Given the description of an element on the screen output the (x, y) to click on. 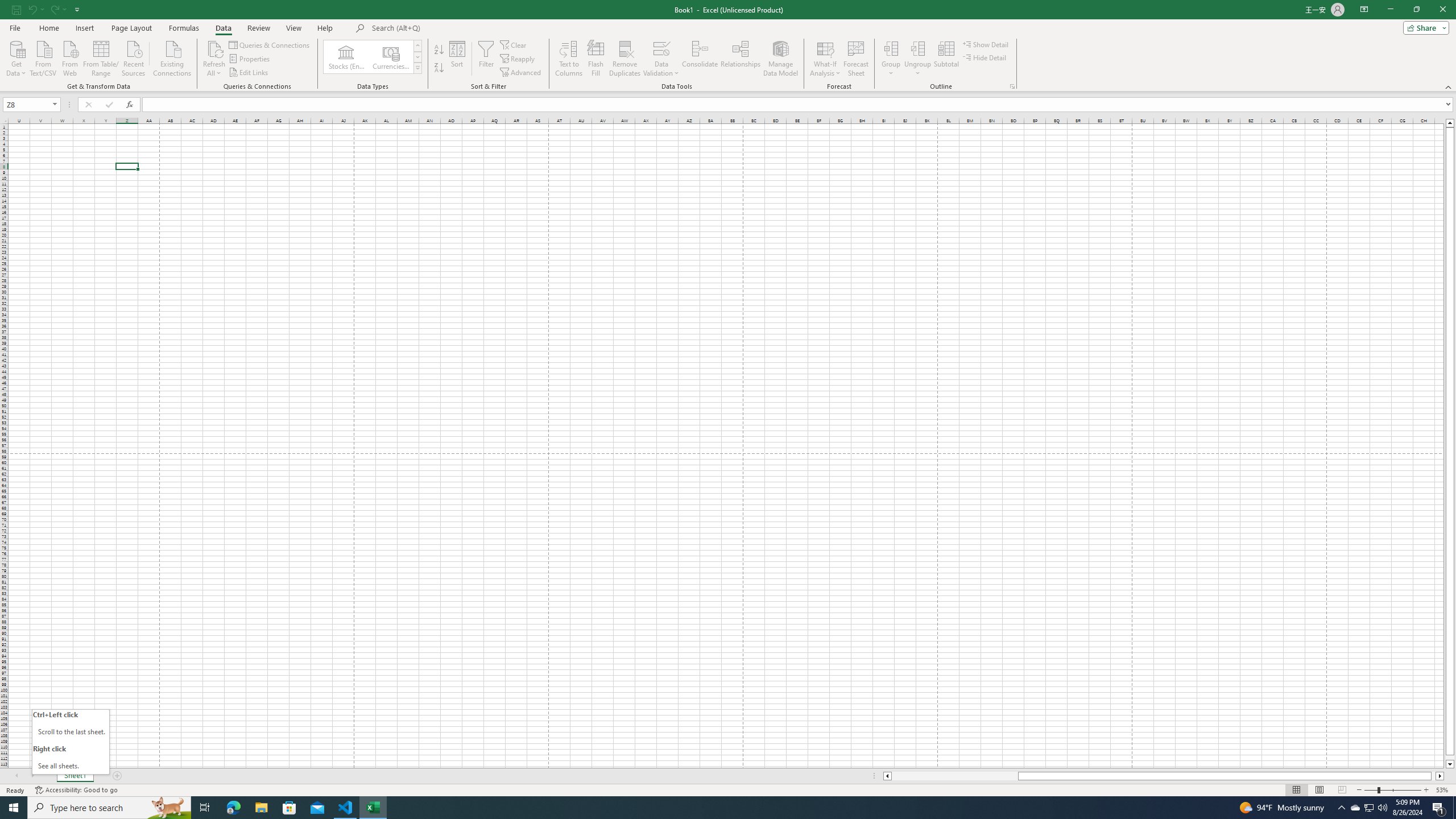
Queries & Connections (270, 44)
Flash Fill (595, 58)
From Text/CSV (43, 57)
